Given the description of an element on the screen output the (x, y) to click on. 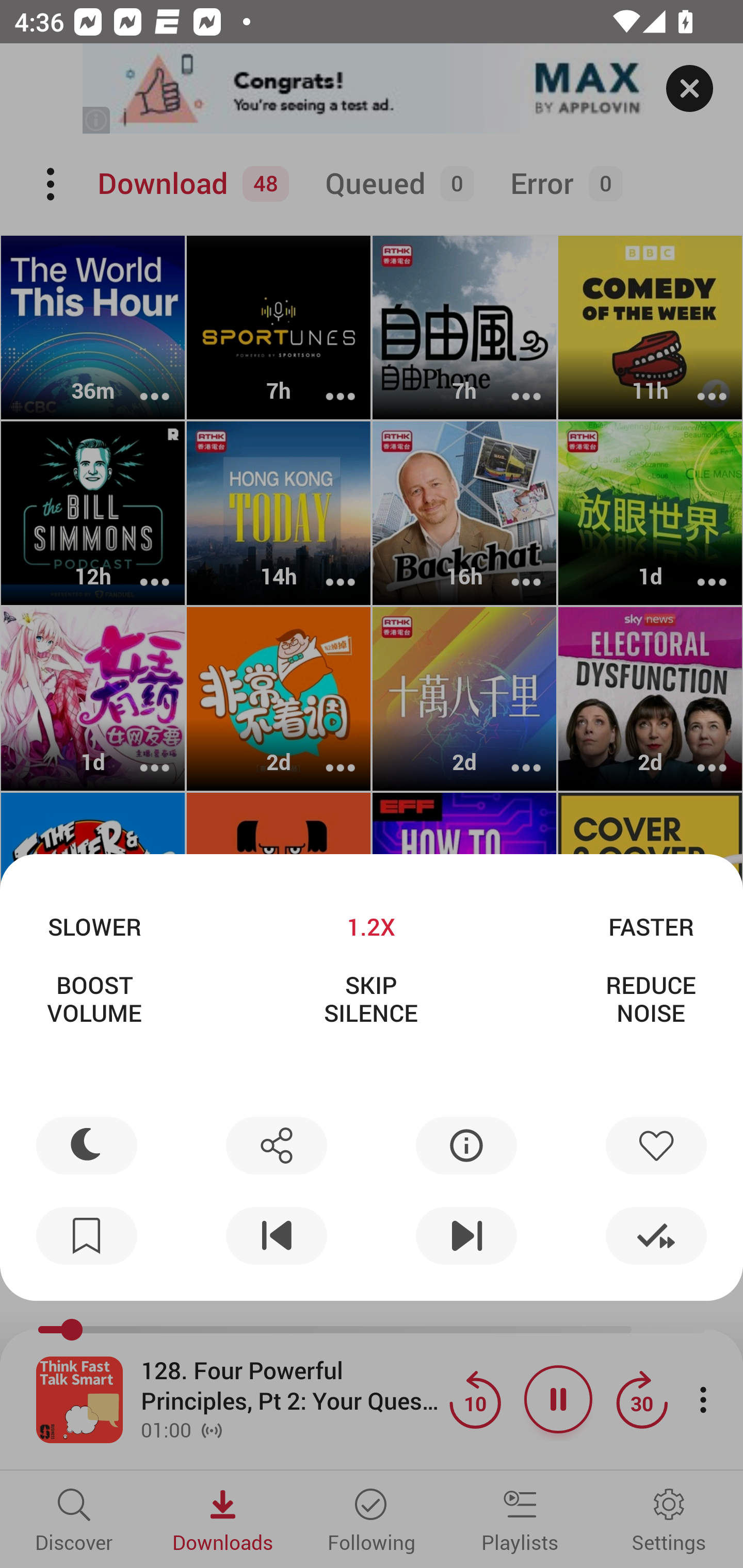
SLOWER (94, 926)
1.2X (370, 926)
FASTER (650, 926)
BOOST
VOLUME (94, 998)
SKIP
SILENCE (370, 998)
REDUCE
NOISE (650, 998)
Sleep timer (86, 1145)
Share (275, 1145)
Info (466, 1145)
Like (655, 1145)
New bookmark … (86, 1236)
Previous (275, 1236)
Next (466, 1236)
Mark played and next (655, 1236)
